Given the description of an element on the screen output the (x, y) to click on. 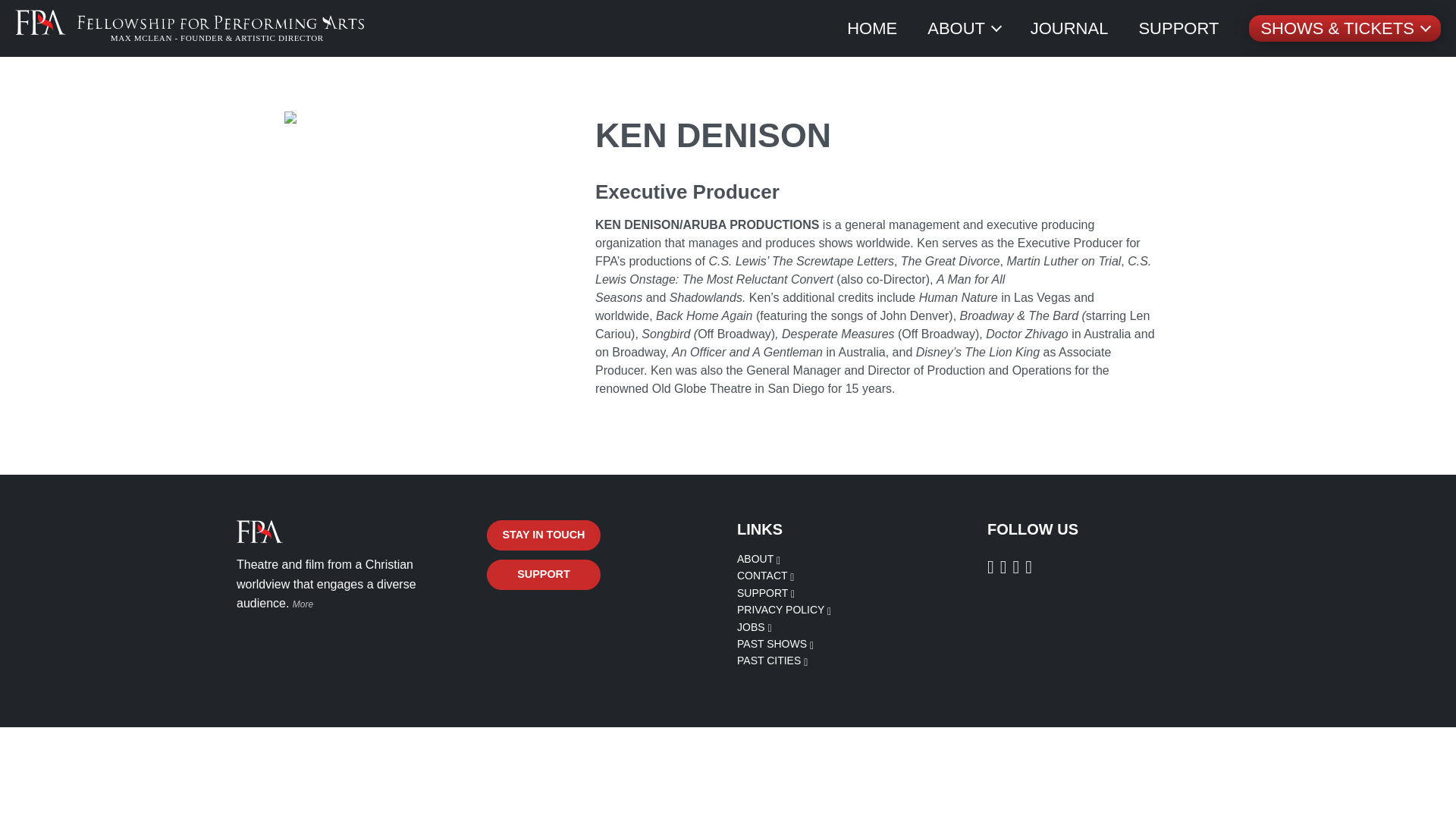
More  (303, 603)
INSTAGRAM (1006, 566)
ABOUT  (758, 558)
JOURNAL (1069, 28)
SUPPORT (1177, 28)
FACEBOOK (993, 566)
JOBS  (753, 625)
PRIVACY POLICY  (783, 609)
HOME (871, 28)
PAST CITIES  (772, 660)
